Given the description of an element on the screen output the (x, y) to click on. 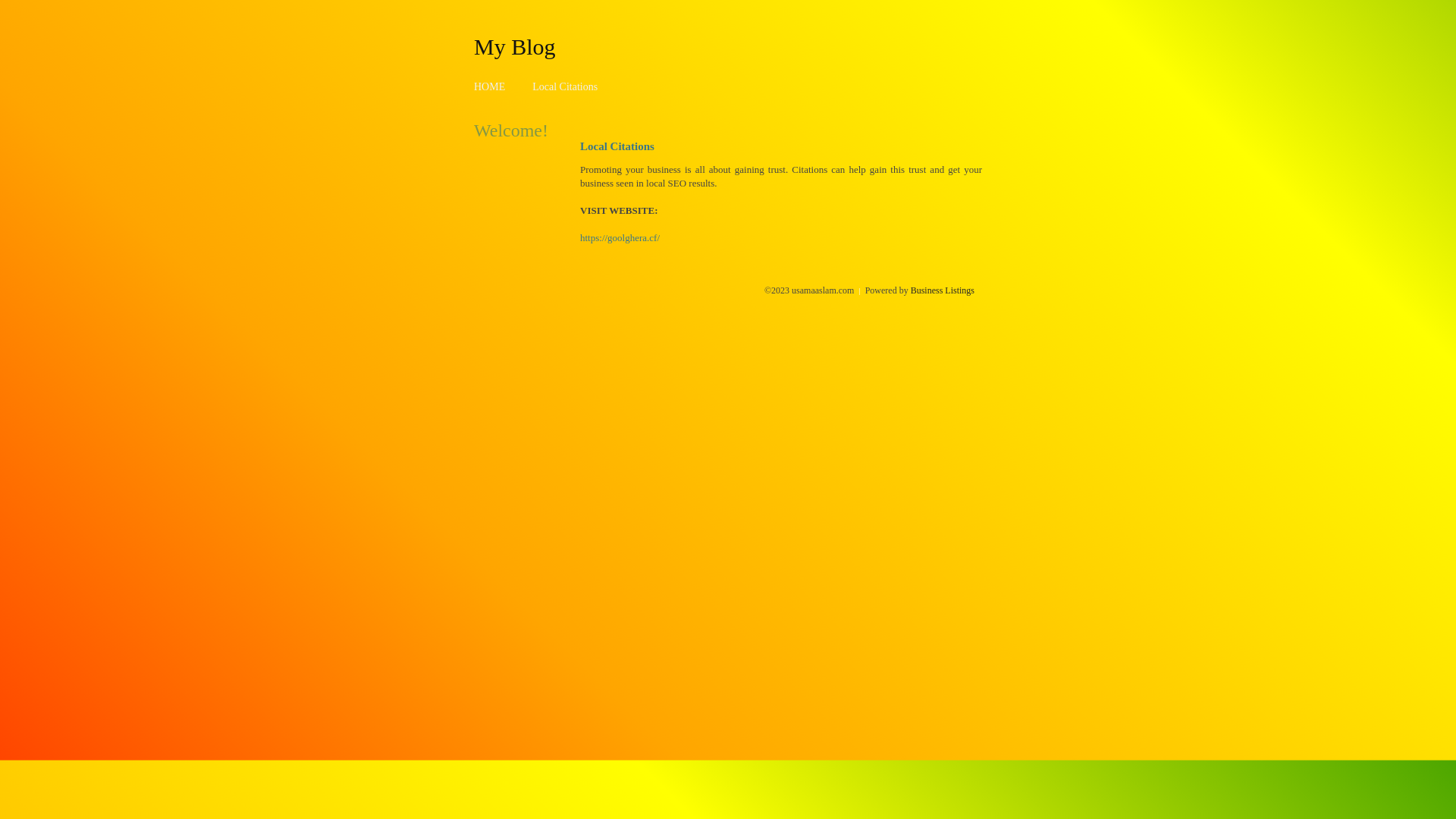
Business Listings Element type: text (942, 290)
HOME Element type: text (489, 86)
https://goolghera.cf/ Element type: text (619, 237)
My Blog Element type: text (514, 46)
Local Citations Element type: text (564, 86)
